Given the description of an element on the screen output the (x, y) to click on. 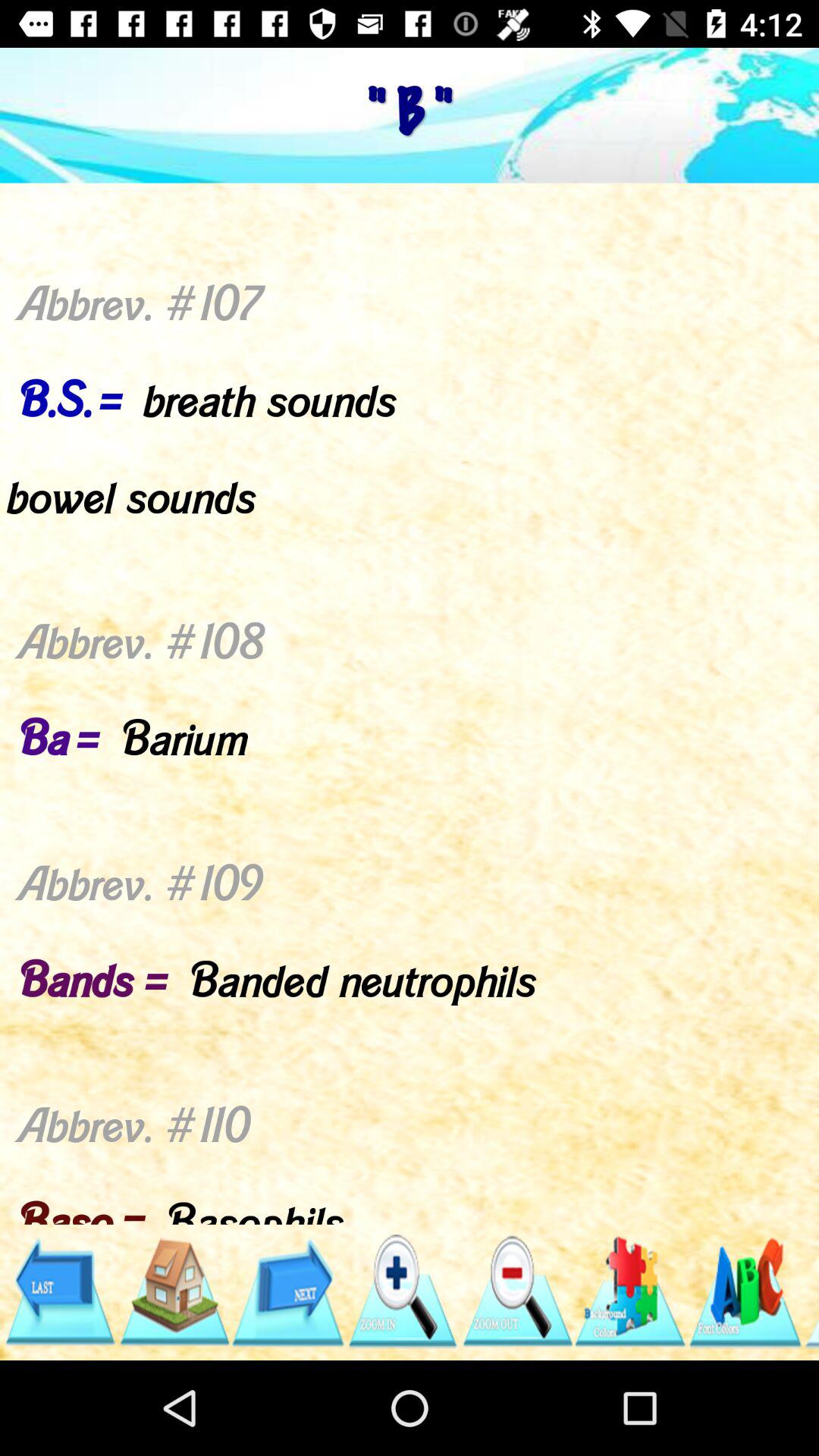
next navigation (287, 1291)
